Given the description of an element on the screen output the (x, y) to click on. 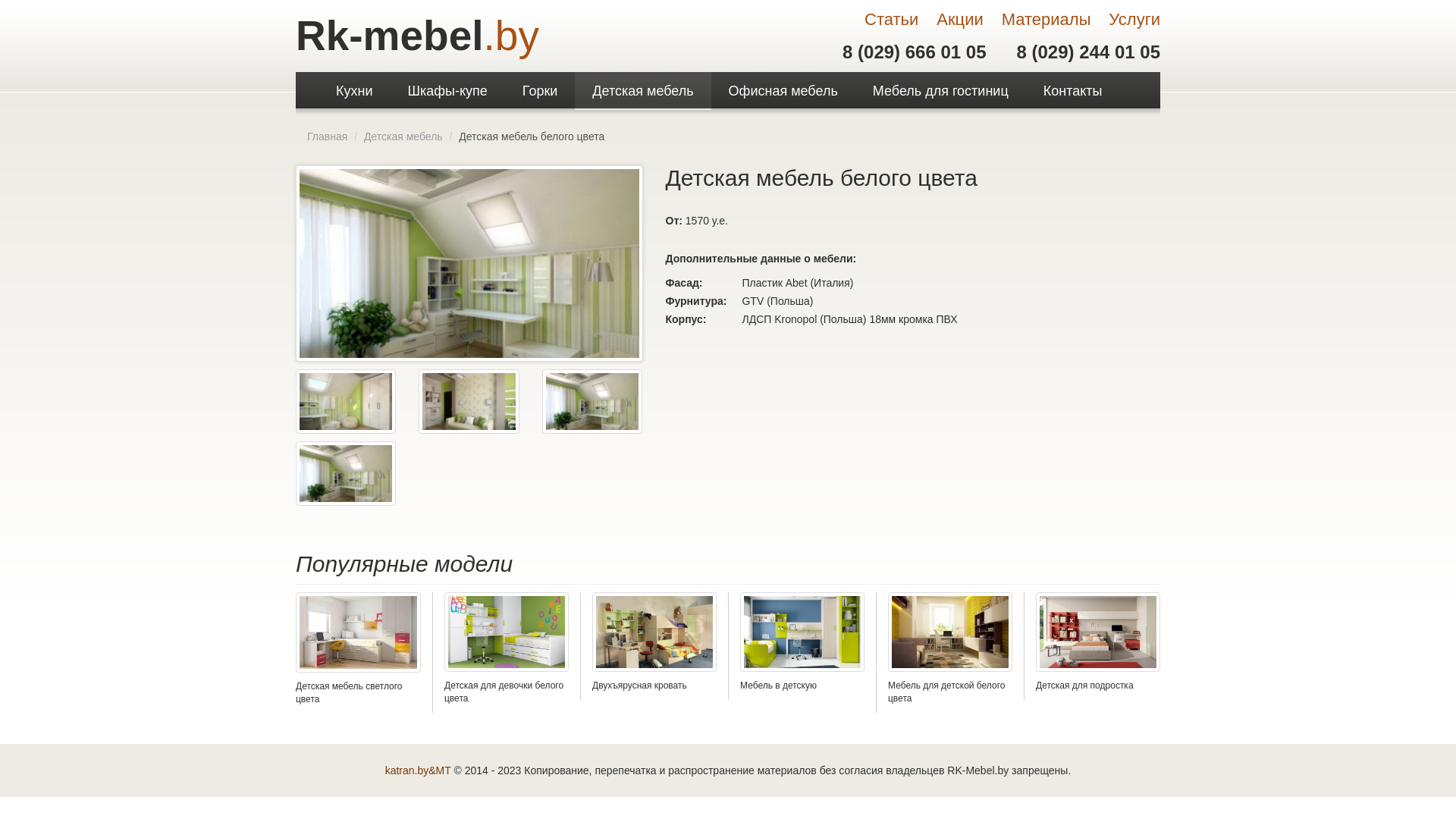
Rk-mebel.by Element type: text (417, 35)
katran.by&MT Element type: text (418, 770)
